Given the description of an element on the screen output the (x, y) to click on. 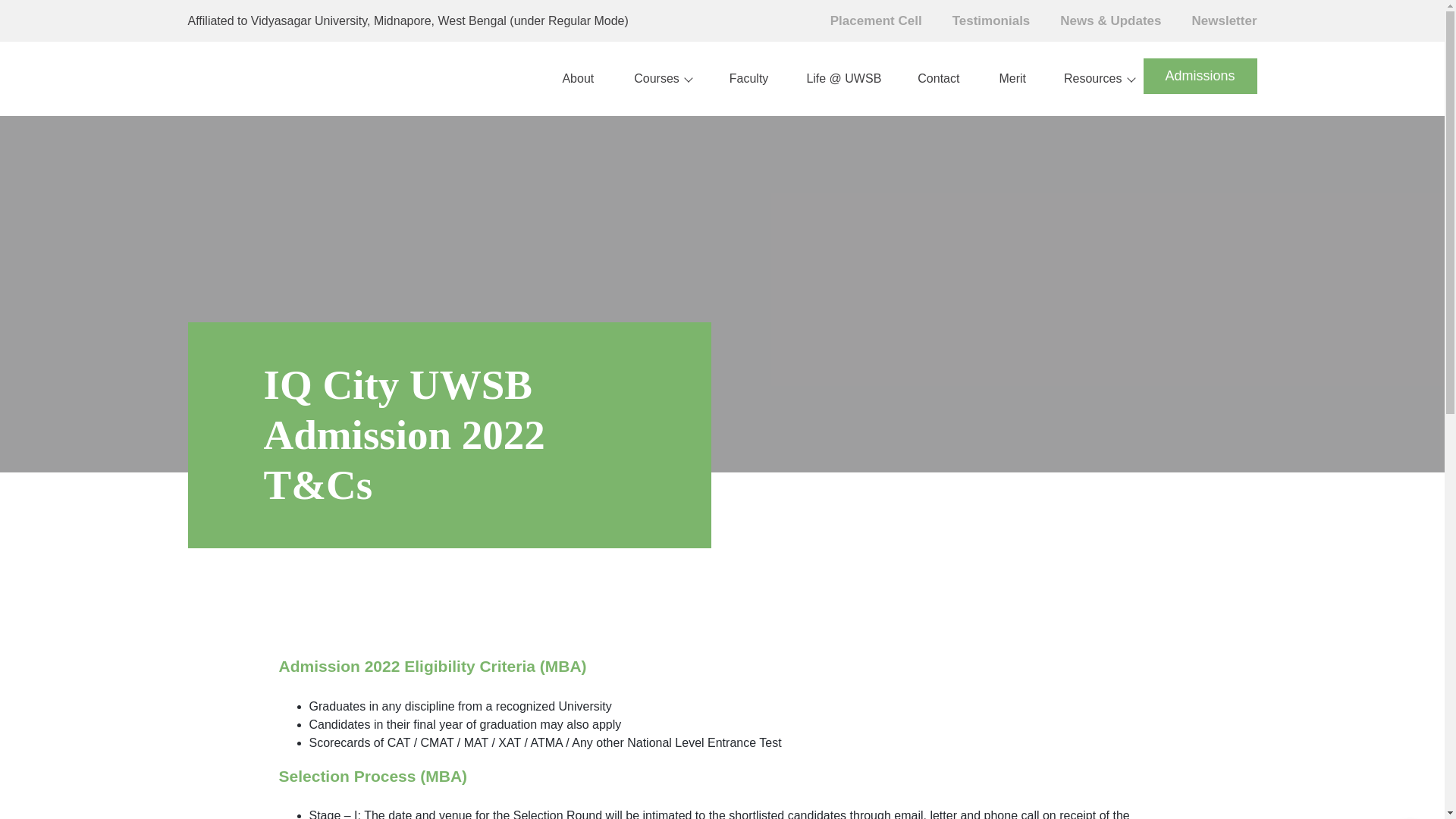
Placement Cell (860, 20)
Newsletter (1209, 20)
About (566, 78)
Courses (651, 78)
Admissions (1199, 76)
Faculty (738, 78)
Resources (1088, 78)
Contact (928, 78)
Merit (1001, 78)
Testimonials (975, 20)
